Given the description of an element on the screen output the (x, y) to click on. 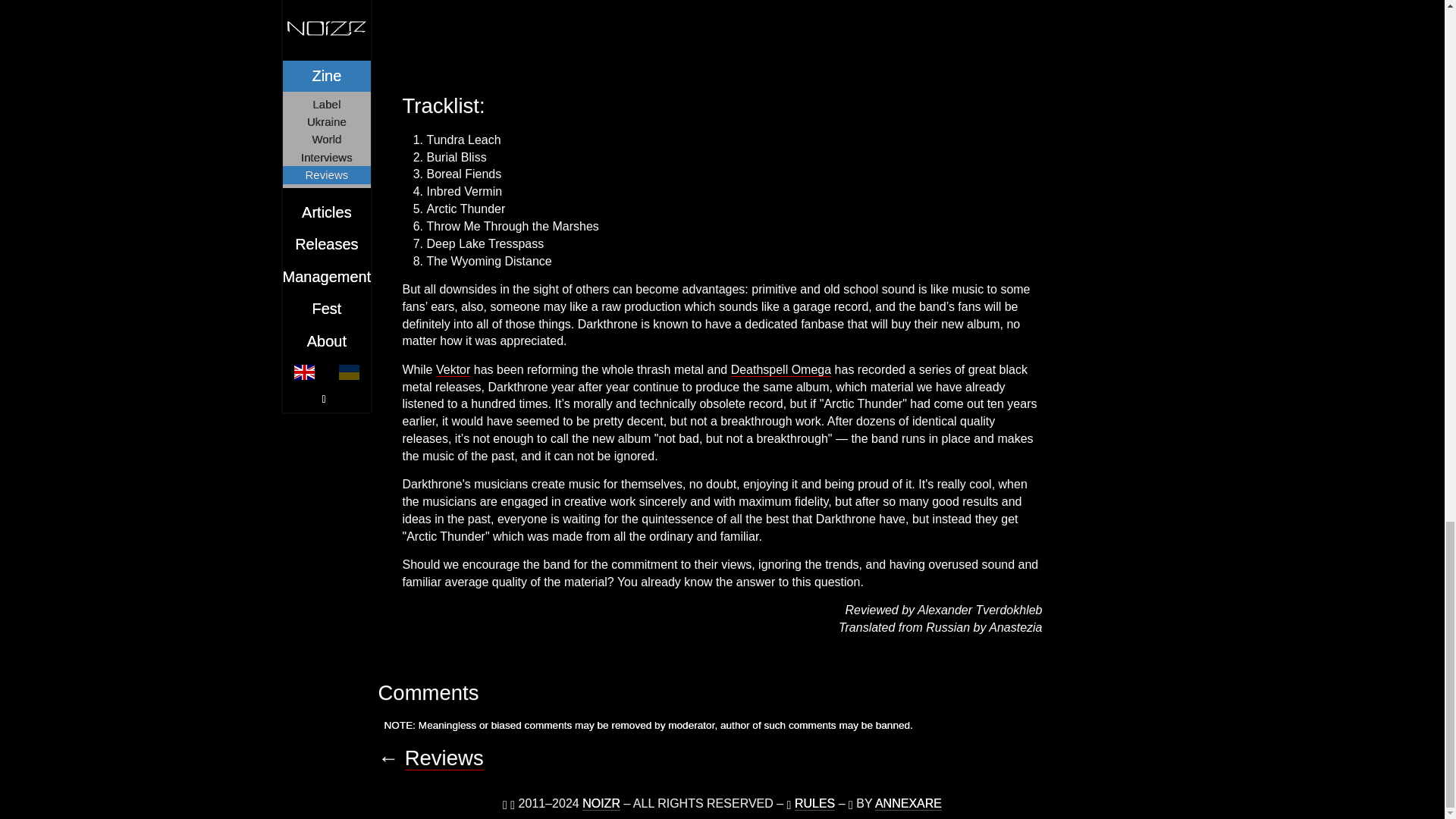
ANNEXARE (908, 803)
RULES (814, 803)
Reviews (443, 758)
NOIZR (601, 803)
Vektor (452, 369)
Deathspell Omega (780, 369)
